Given the description of an element on the screen output the (x, y) to click on. 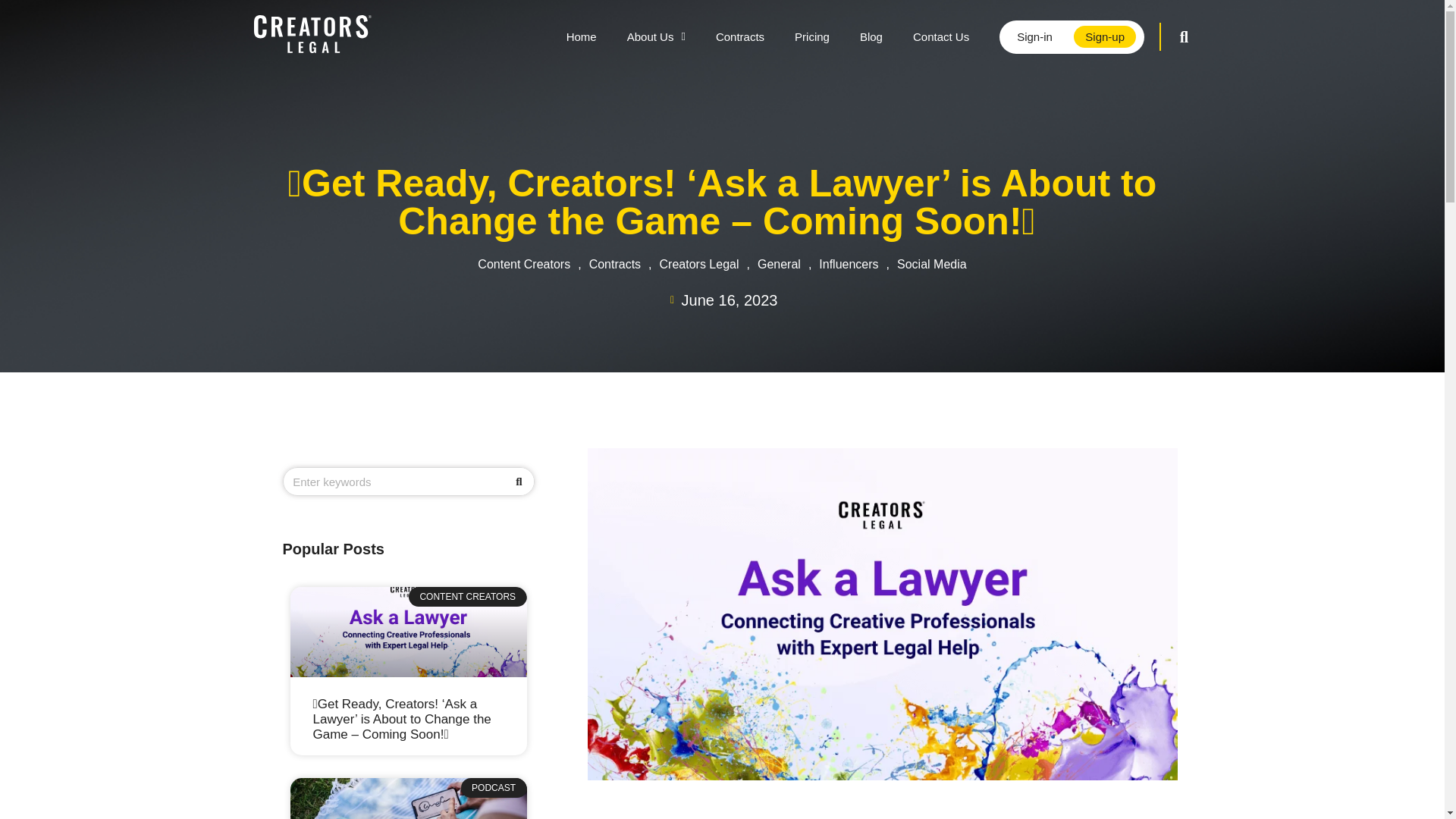
Sign-in (1034, 35)
About Us (655, 36)
Pricing (811, 36)
Contact Us (941, 36)
Content Creators (523, 264)
Contracts (739, 36)
Blog (871, 36)
Home (581, 36)
Sign-up (1104, 36)
